Given the description of an element on the screen output the (x, y) to click on. 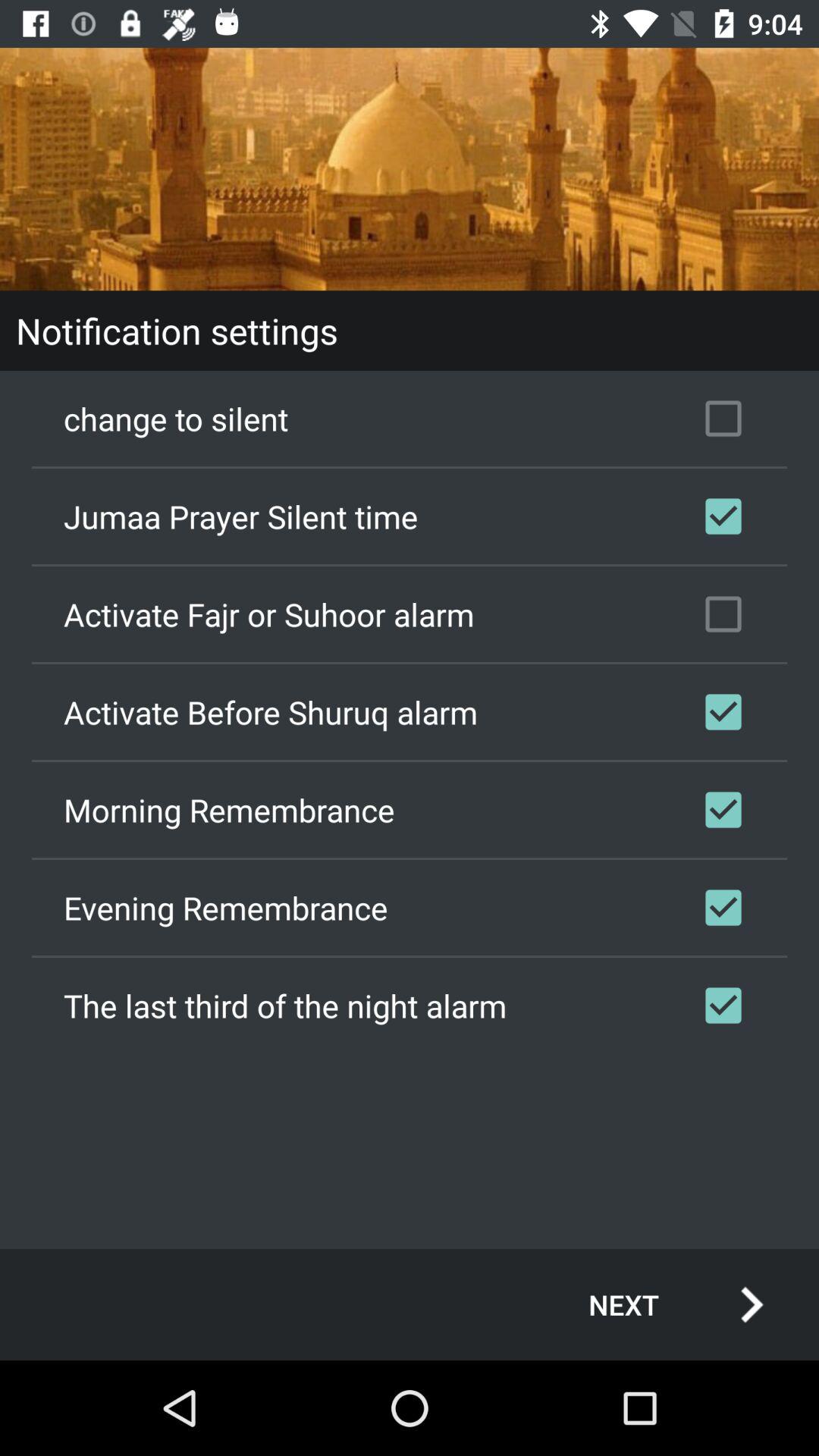
open the item below change to silent item (409, 516)
